Given the description of an element on the screen output the (x, y) to click on. 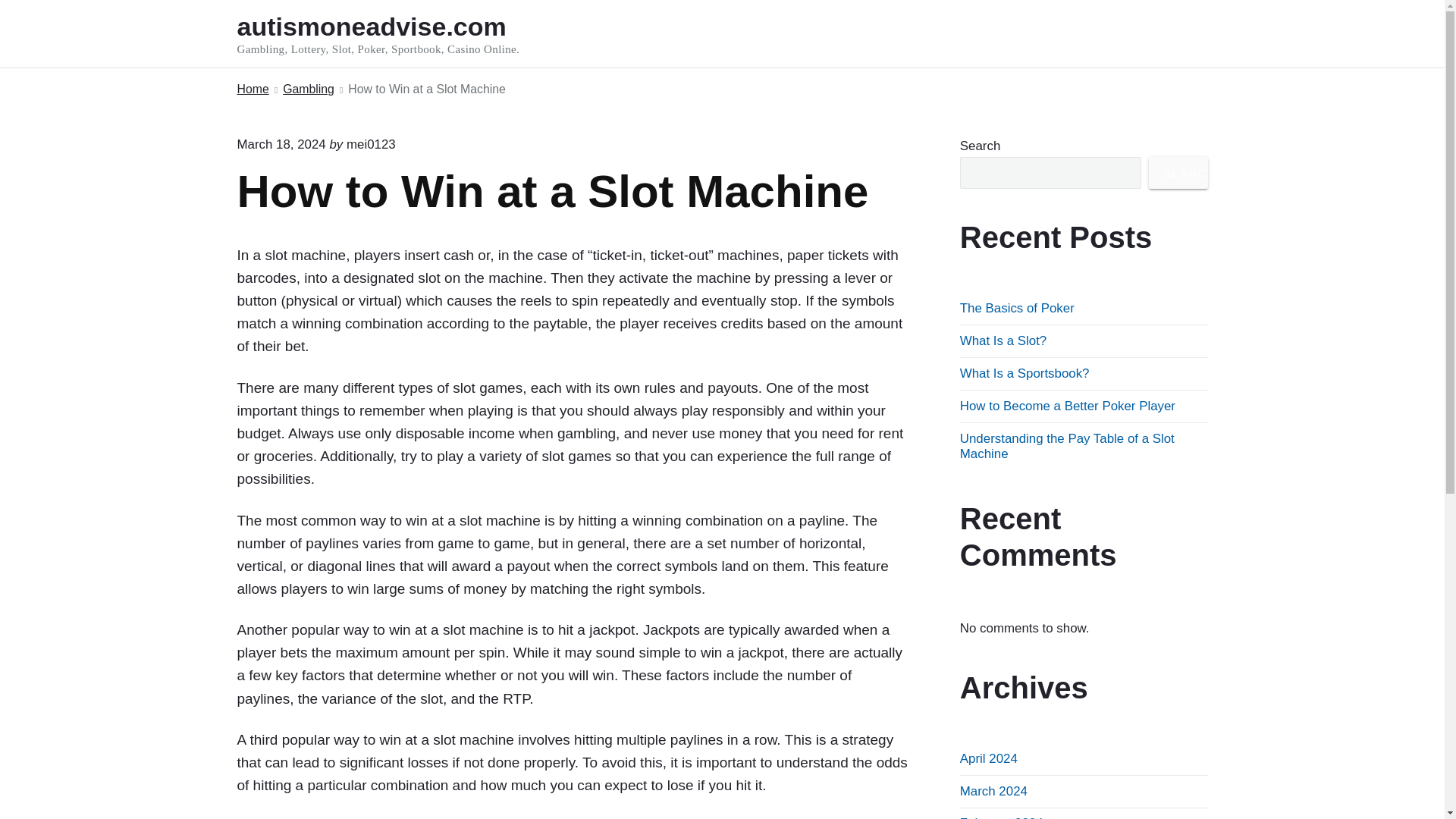
Understanding the Pay Table of a Slot Machine (1066, 446)
SEARCH (1178, 173)
Home (251, 89)
The Basics of Poker (1016, 308)
How to Become a Better Poker Player (1066, 405)
What Is a Slot? (1002, 340)
March 2024 (993, 790)
February 2024 (1001, 817)
Gambling (308, 89)
What Is a Sportsbook? (1024, 373)
mei0123 (371, 144)
Monday, March 18, 2024, 3:46 pm (279, 144)
April 2024 (988, 758)
Posts by mei0123 (371, 144)
